Given the description of an element on the screen output the (x, y) to click on. 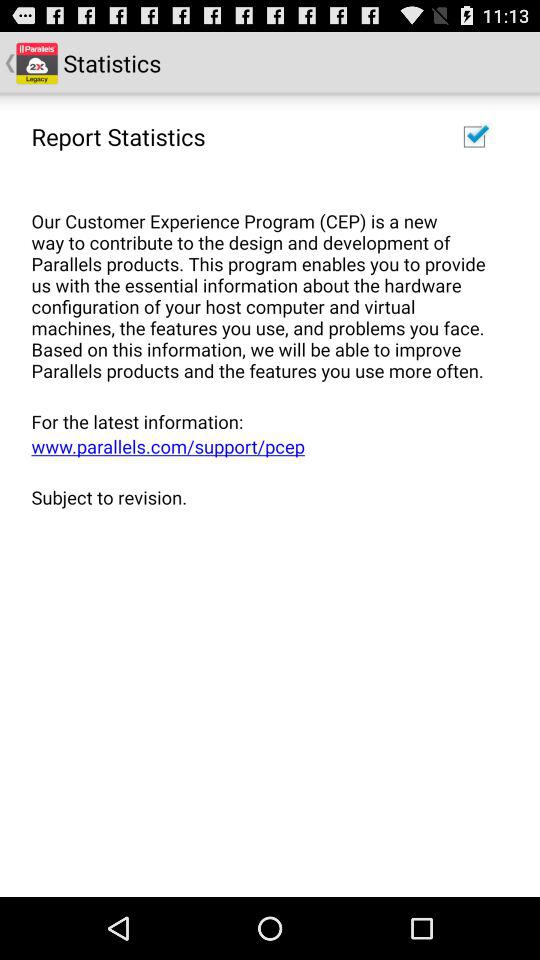
turn on the app to the right of the report statistics (474, 136)
